Given the description of an element on the screen output the (x, y) to click on. 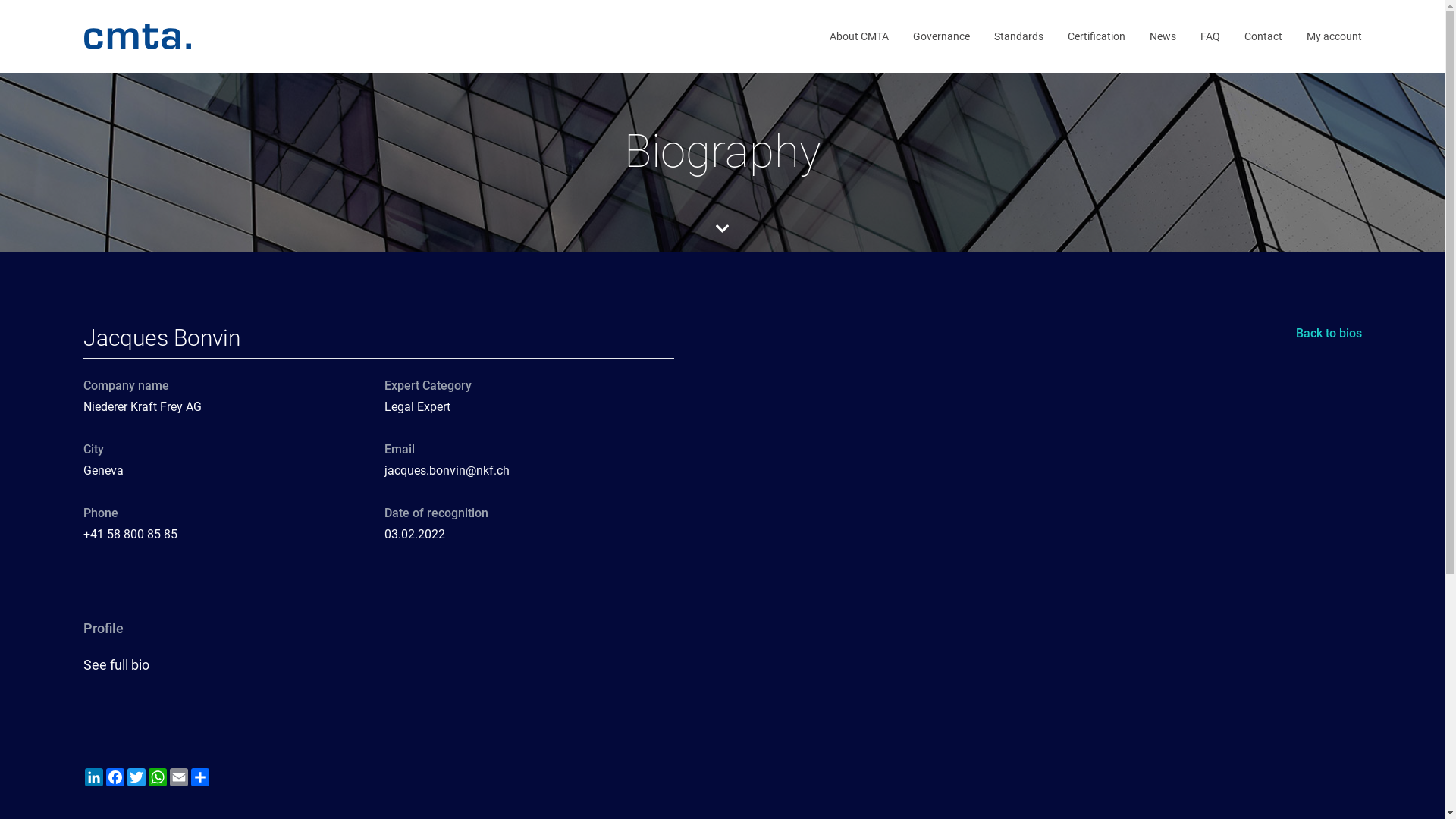
Facebook Element type: text (114, 777)
News Element type: text (1162, 39)
About CMTA Element type: text (858, 39)
My account Element type: text (1333, 39)
LinkedIn Element type: text (93, 777)
Governance Element type: text (941, 39)
Main navigation Element type: text (81, 36)
See full bio  Element type: text (117, 664)
Contact Element type: text (1262, 39)
WhatsApp Element type: text (157, 777)
Email Element type: text (178, 777)
Certification Element type: text (1096, 39)
Share Element type: text (199, 777)
Standards Element type: text (1017, 39)
Twitter Element type: text (136, 777)
Back to bios Element type: text (1328, 337)
FAQ Element type: text (1209, 39)
